Given the description of an element on the screen output the (x, y) to click on. 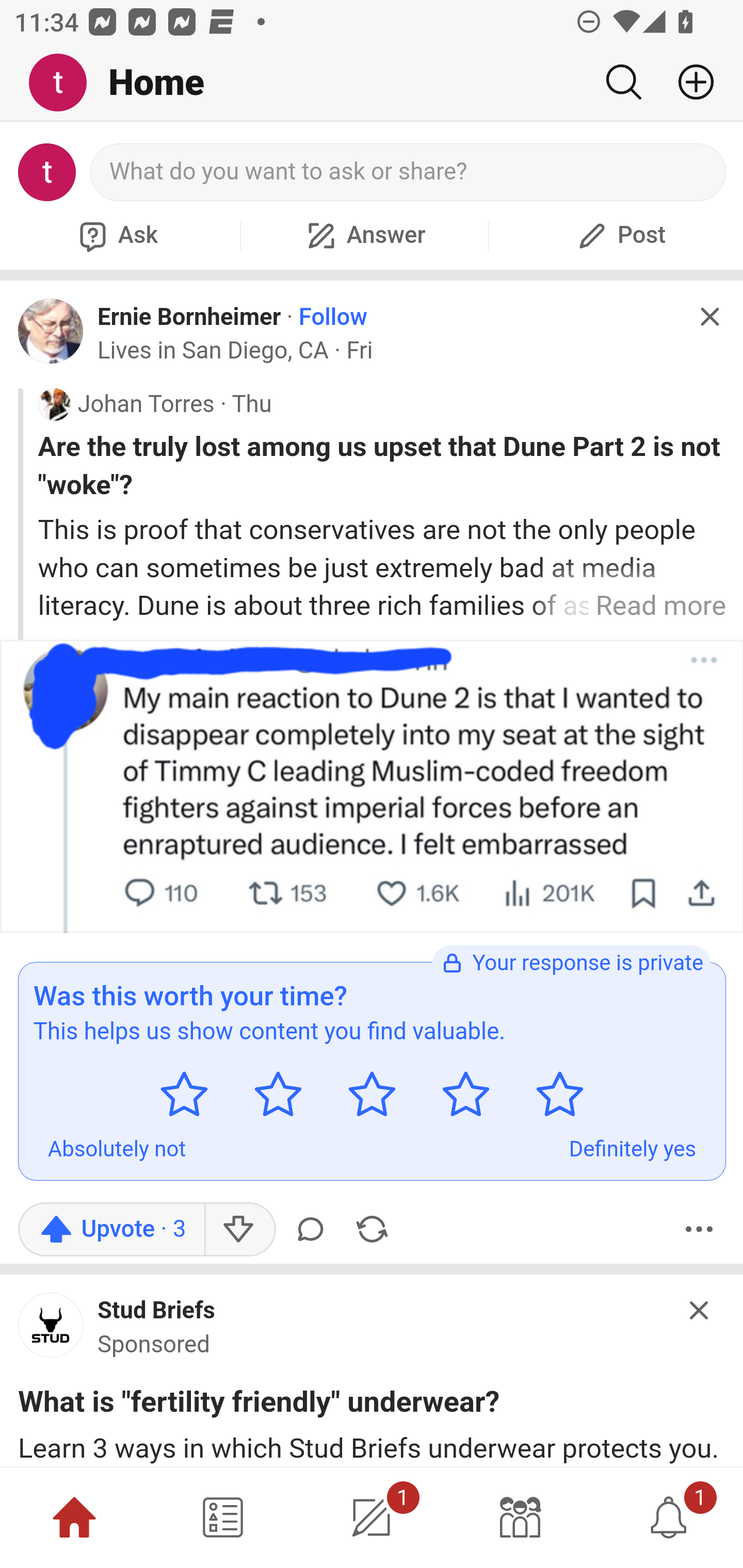
Me (64, 83)
Search (623, 82)
Add (688, 82)
What do you want to ask or share? (408, 172)
Ask (116, 234)
Answer (364, 234)
Post (618, 234)
Hide (709, 316)
Profile photo for Ernie Bornheimer (50, 330)
Ernie Bornheimer (189, 315)
Follow (332, 316)
Profile photo for Johan Torres (54, 404)
Upvote (111, 1229)
Downvote (238, 1229)
Comment (313, 1229)
Share (372, 1229)
More (699, 1229)
Hide (699, 1309)
main-qimg-f203deb7121183c78e5088192cee230f (50, 1330)
Stud Briefs (156, 1310)
Sponsored (154, 1344)
What is "fertility friendly" underwear? (258, 1405)
1 (371, 1517)
1 (668, 1517)
